Given the description of an element on the screen output the (x, y) to click on. 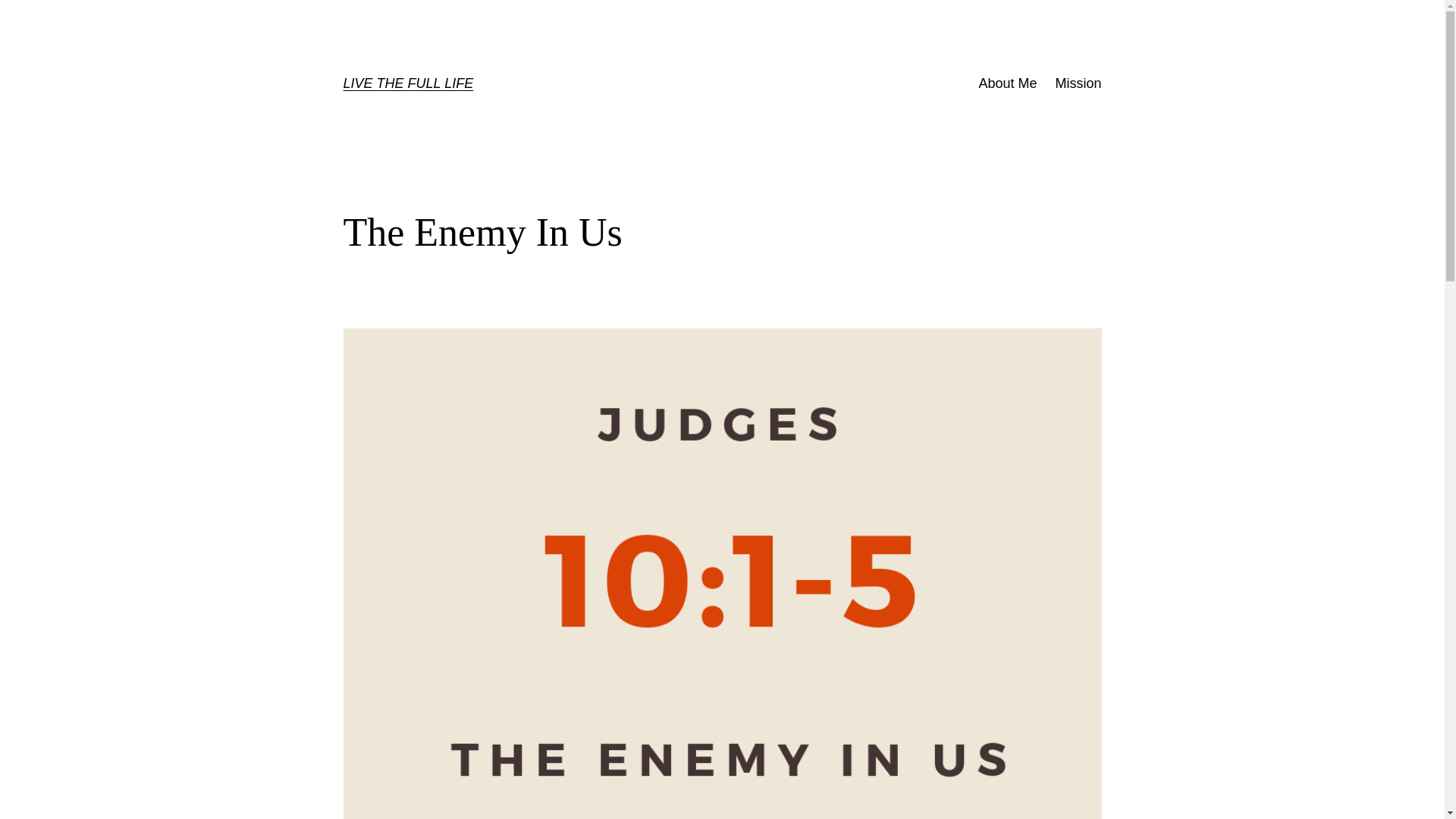
Mission (1077, 83)
About Me (1007, 83)
LIVE THE FULL LIFE (407, 83)
